Given the description of an element on the screen output the (x, y) to click on. 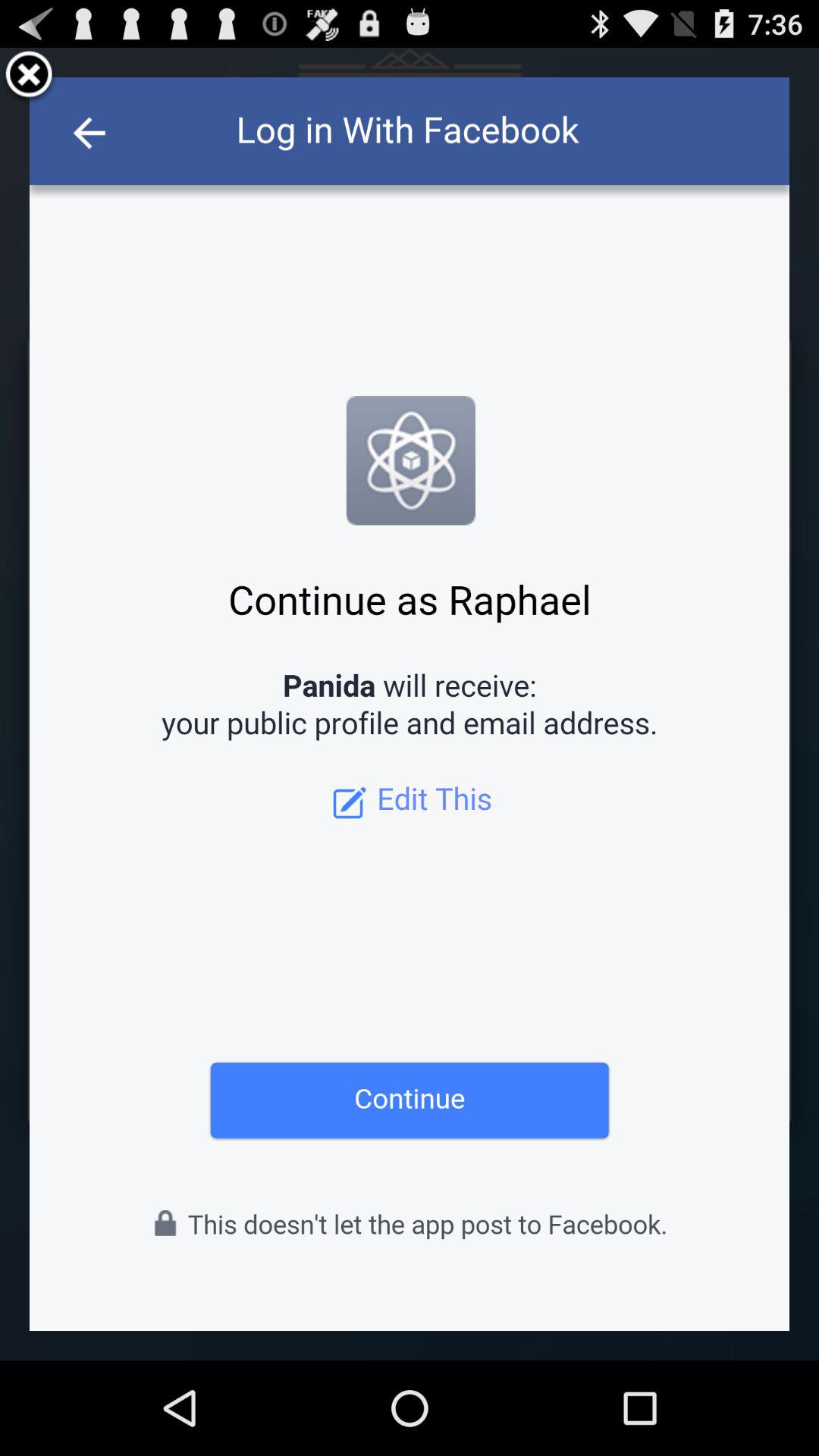
continue page (409, 703)
